Given the description of an element on the screen output the (x, y) to click on. 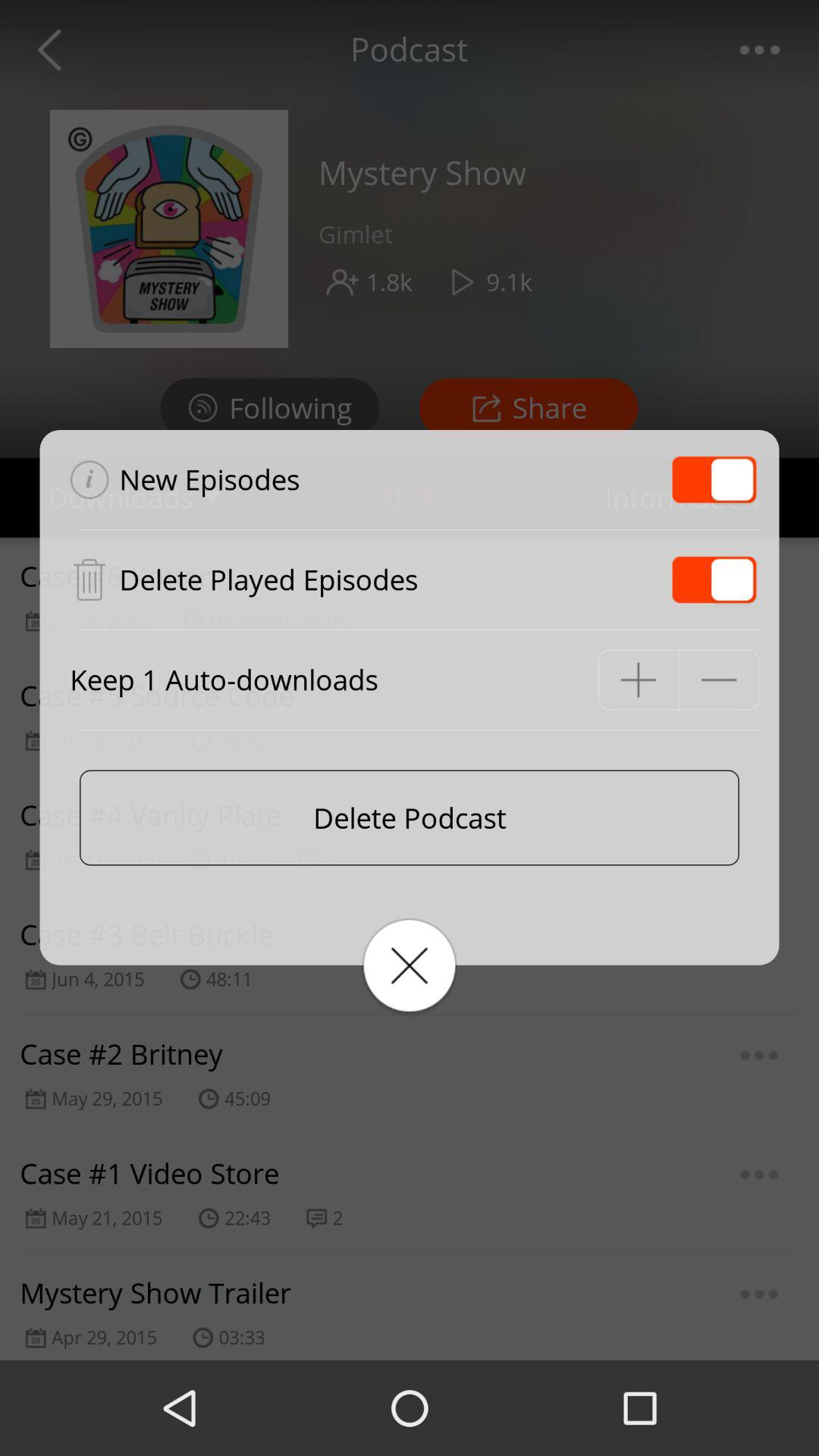
toggle episodes (714, 579)
